Given the description of an element on the screen output the (x, y) to click on. 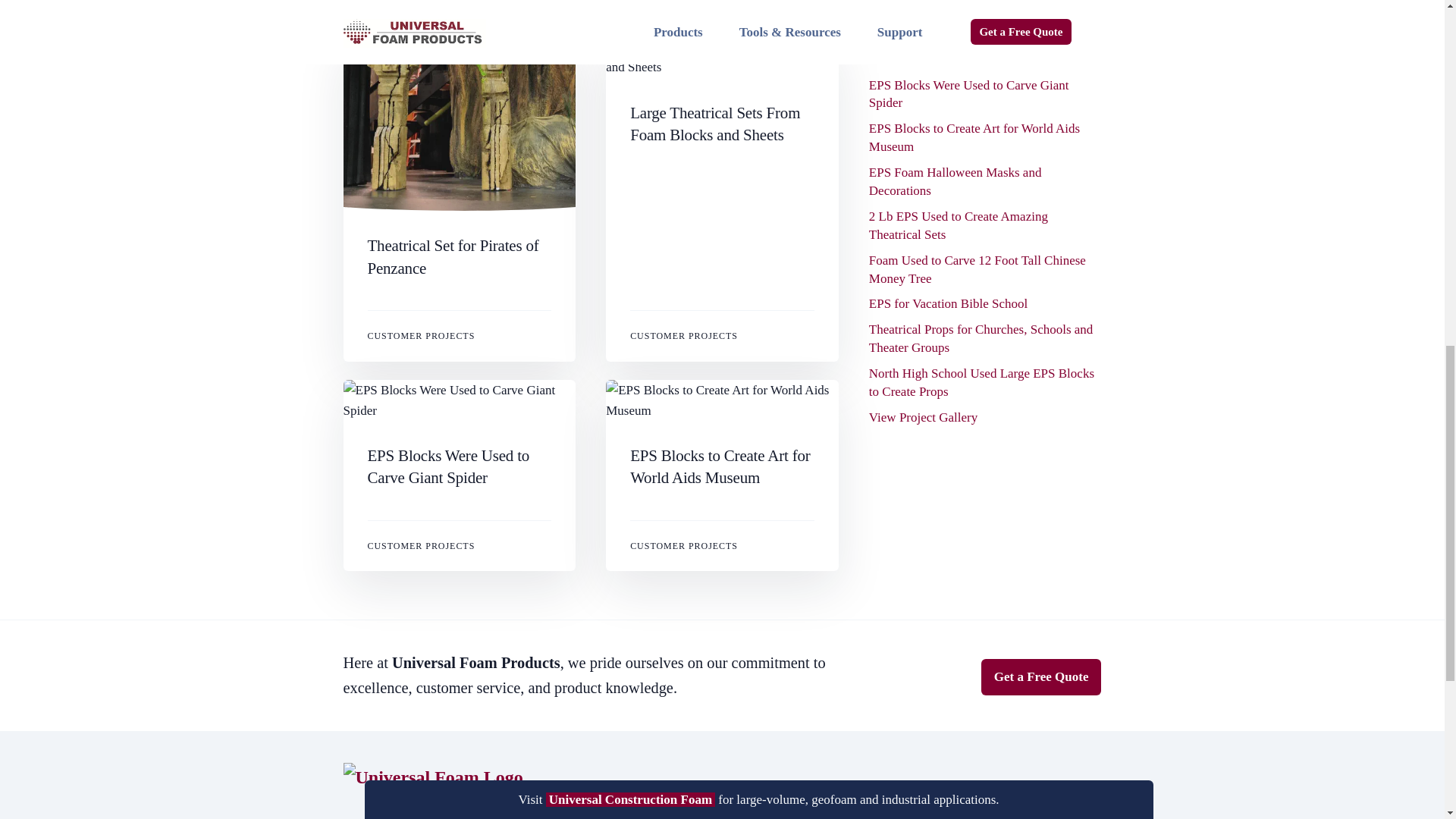
Universal Foam Logo (432, 776)
